Given the description of an element on the screen output the (x, y) to click on. 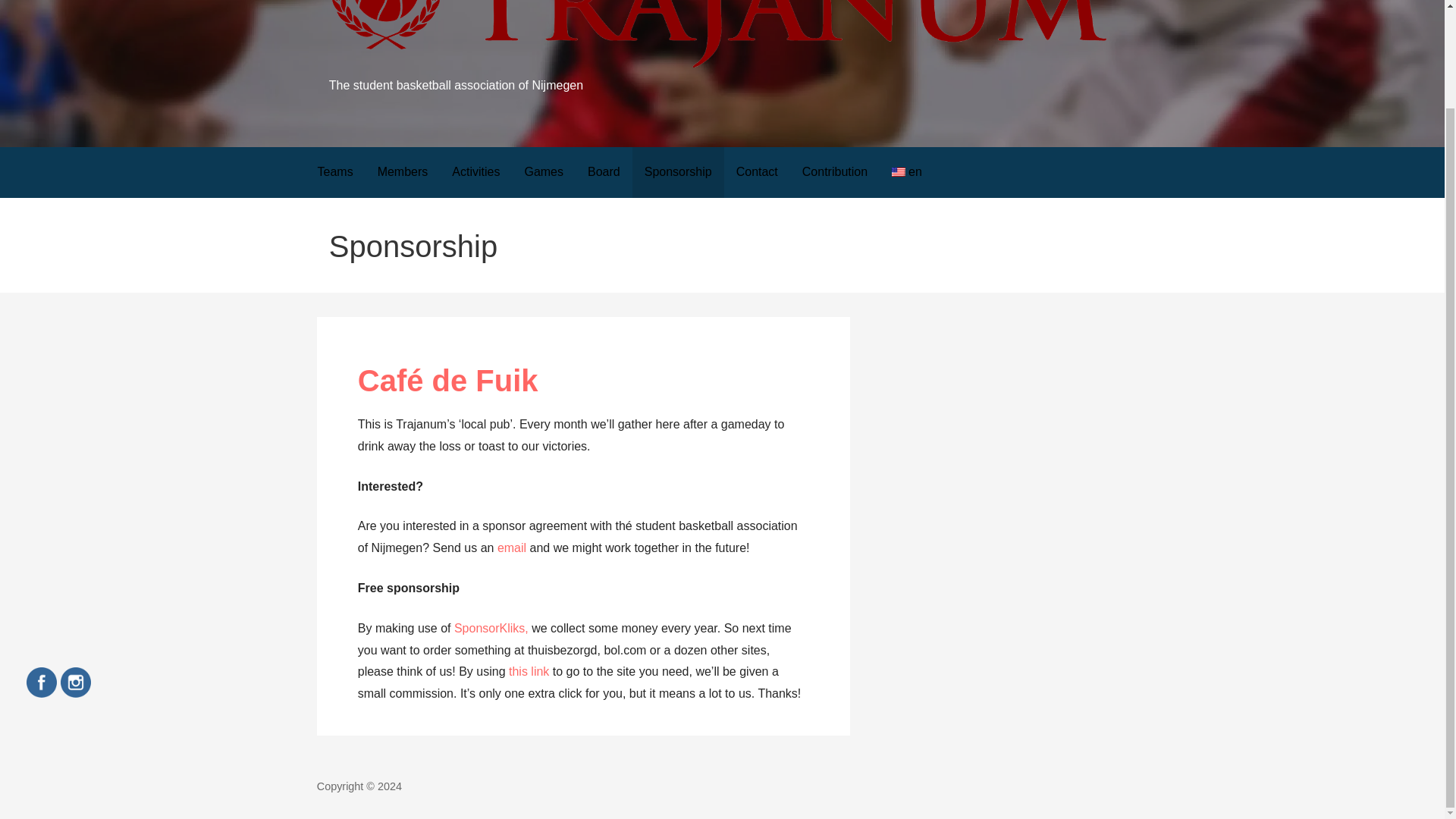
email (511, 547)
en (906, 172)
Activities (475, 172)
SponsorKliks, (492, 627)
Facebook (41, 682)
Teams (334, 172)
Members (403, 172)
Contact (756, 172)
Instagram (75, 682)
Sponsorship (677, 172)
this link (528, 671)
Board (603, 172)
Contribution (834, 172)
Games (543, 172)
